Given the description of an element on the screen output the (x, y) to click on. 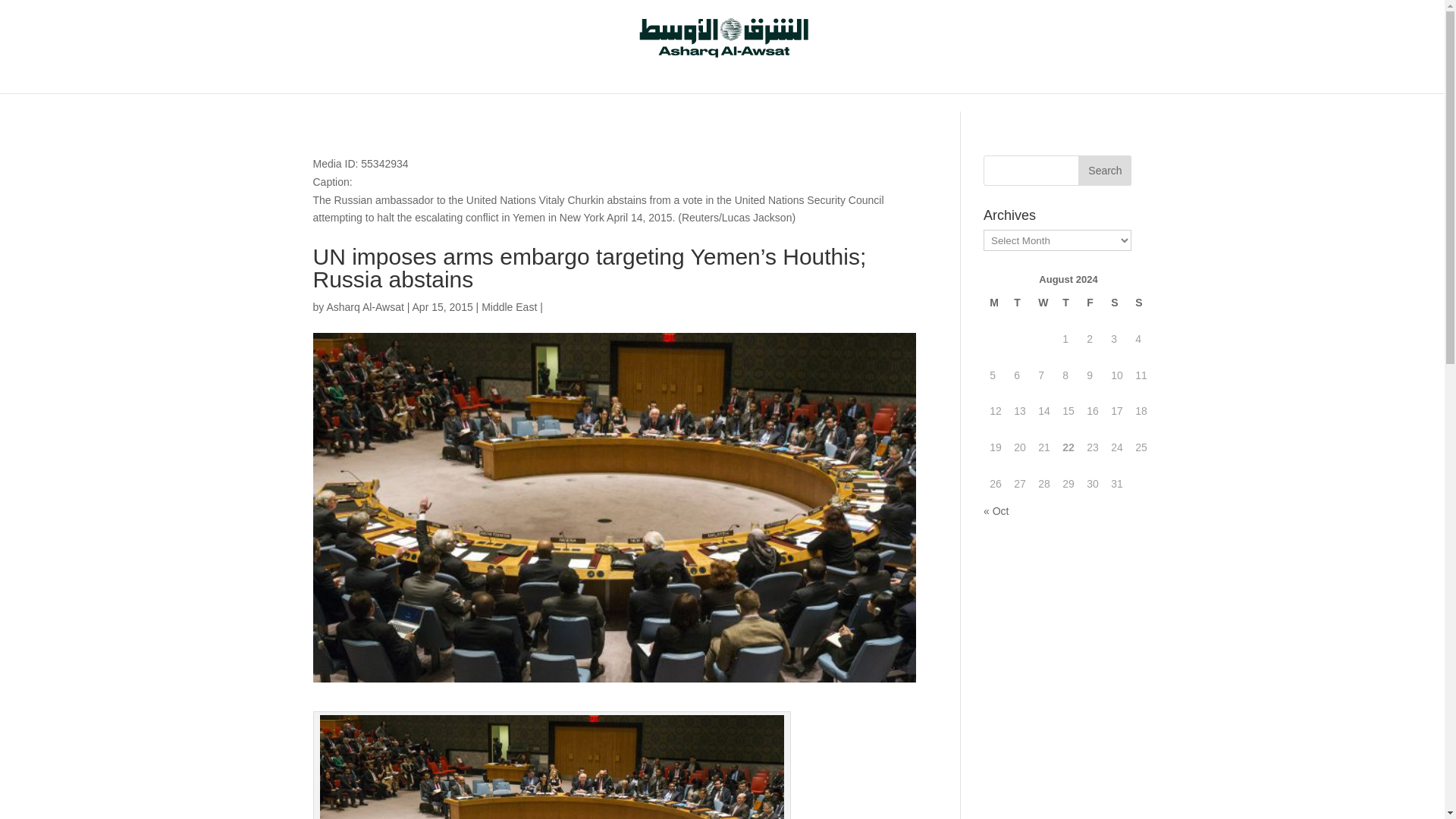
Asharq Al-Awsat (364, 306)
Search (1104, 170)
Middle East (509, 306)
Posts by Asharq Al-Awsat (364, 306)
Search (1104, 170)
